Given the description of an element on the screen output the (x, y) to click on. 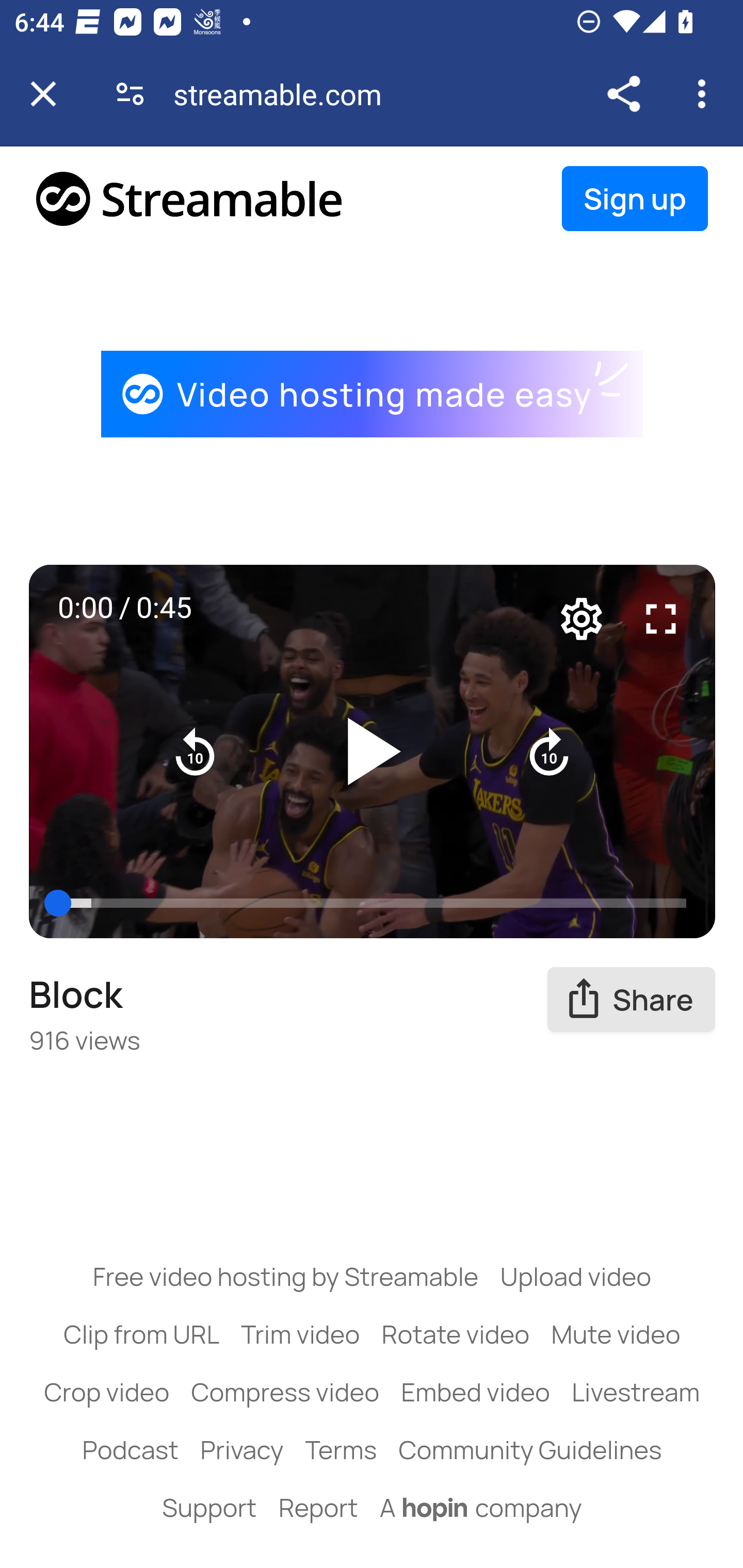
Close tab (43, 93)
Share (623, 93)
Customize and control Google Chrome (705, 93)
Connection is secure (129, 93)
streamable.com (284, 93)
Sign up (634, 199)
Streamable Logo (189, 198)
Options (o) (581, 618)
Full screen (f) (662, 618)
Play (k) (372, 751)
Seek back (j) (195, 751)
Seek forward (l) (549, 751)
ios_share Share (631, 999)
Free video hosting by Streamable (286, 1275)
Upload video (574, 1275)
Clip from URL (141, 1333)
Trim video (300, 1333)
Rotate video (455, 1333)
Mute video (615, 1333)
Crop video (107, 1391)
Compress video (284, 1391)
Embed video (475, 1391)
Livestream (635, 1391)
Podcast (130, 1449)
Privacy (241, 1449)
Terms (340, 1449)
Community Guidelines (529, 1449)
Support (208, 1507)
Report (317, 1507)
A company A company (480, 1507)
